Given the description of an element on the screen output the (x, y) to click on. 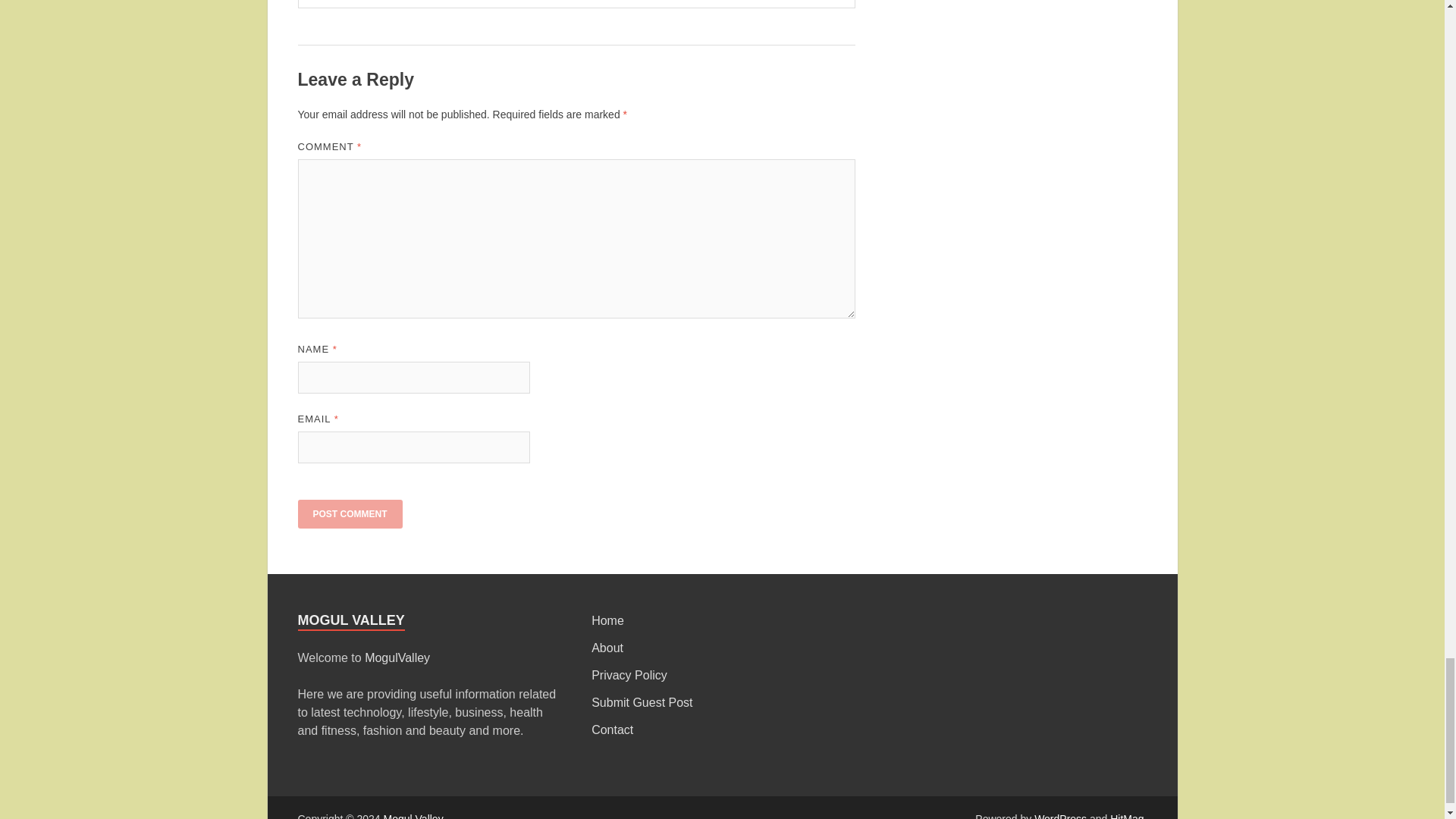
Post Comment (349, 513)
